Given the description of an element on the screen output the (x, y) to click on. 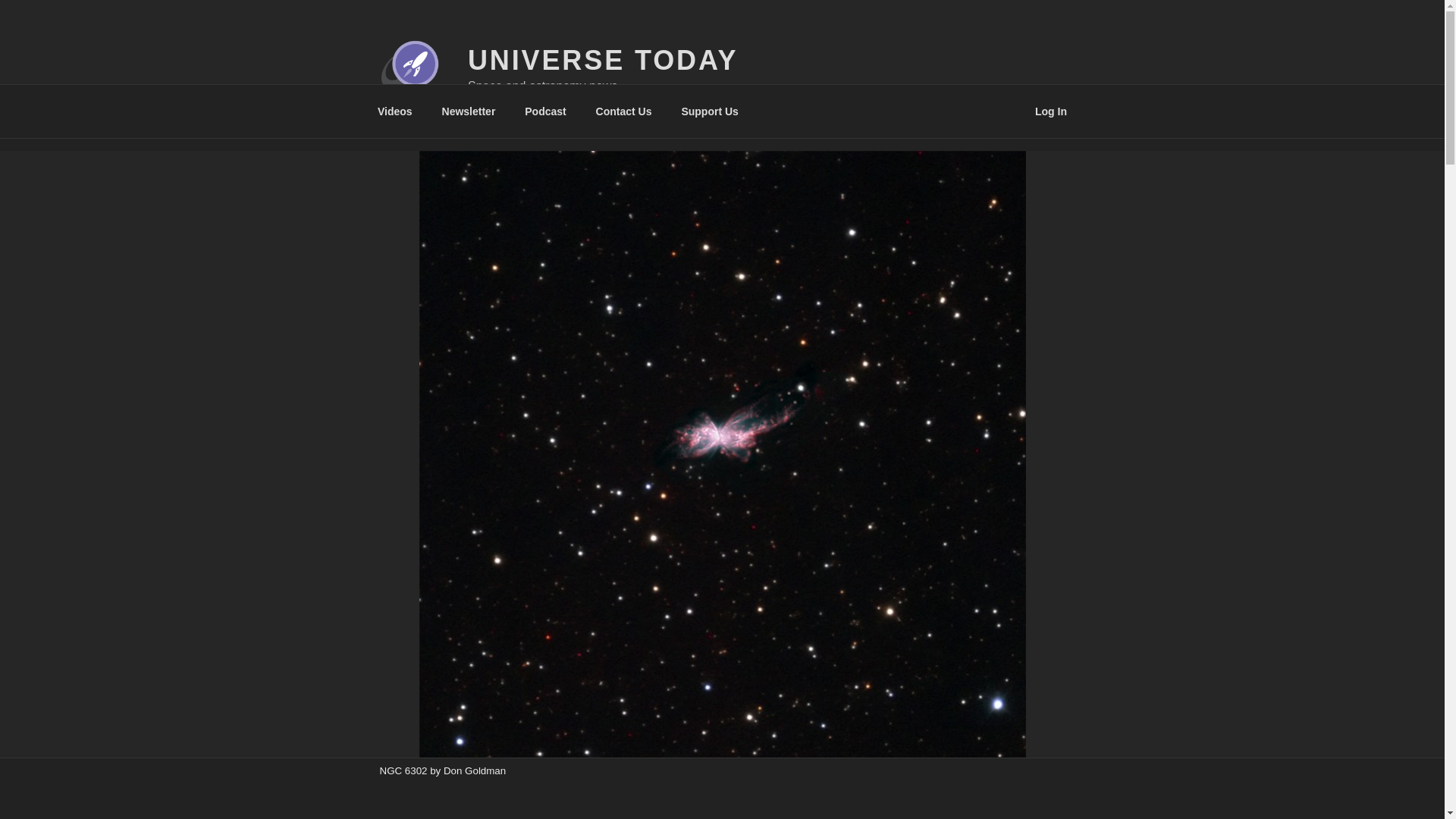
Contact Us (623, 110)
Newsletter (468, 110)
Videos (394, 110)
UNIVERSE TODAY (602, 60)
Podcast (545, 110)
Log In (1051, 110)
Support Us (709, 110)
